Given the description of an element on the screen output the (x, y) to click on. 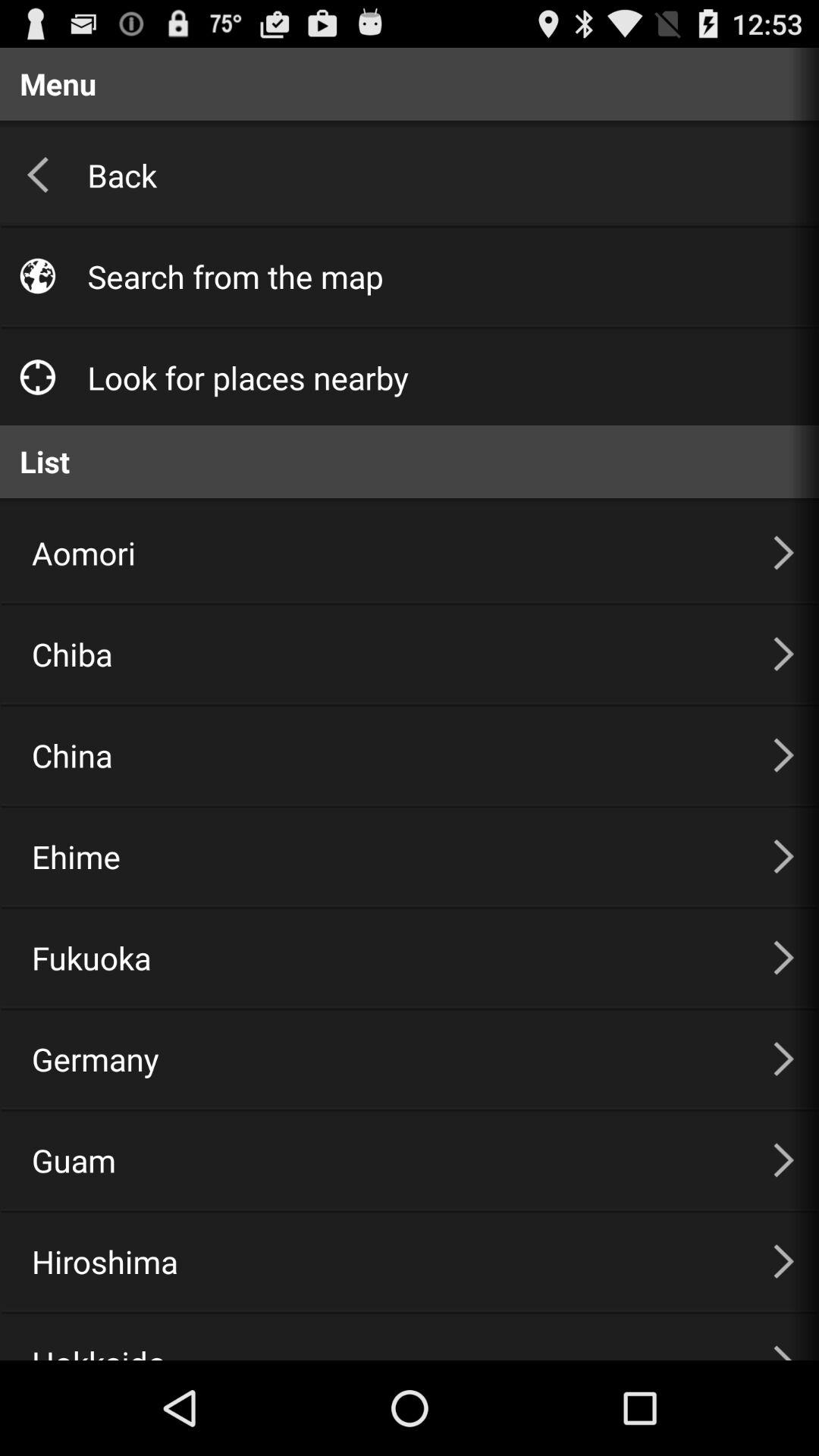
turn off the hokkaido item (384, 1337)
